Given the description of an element on the screen output the (x, y) to click on. 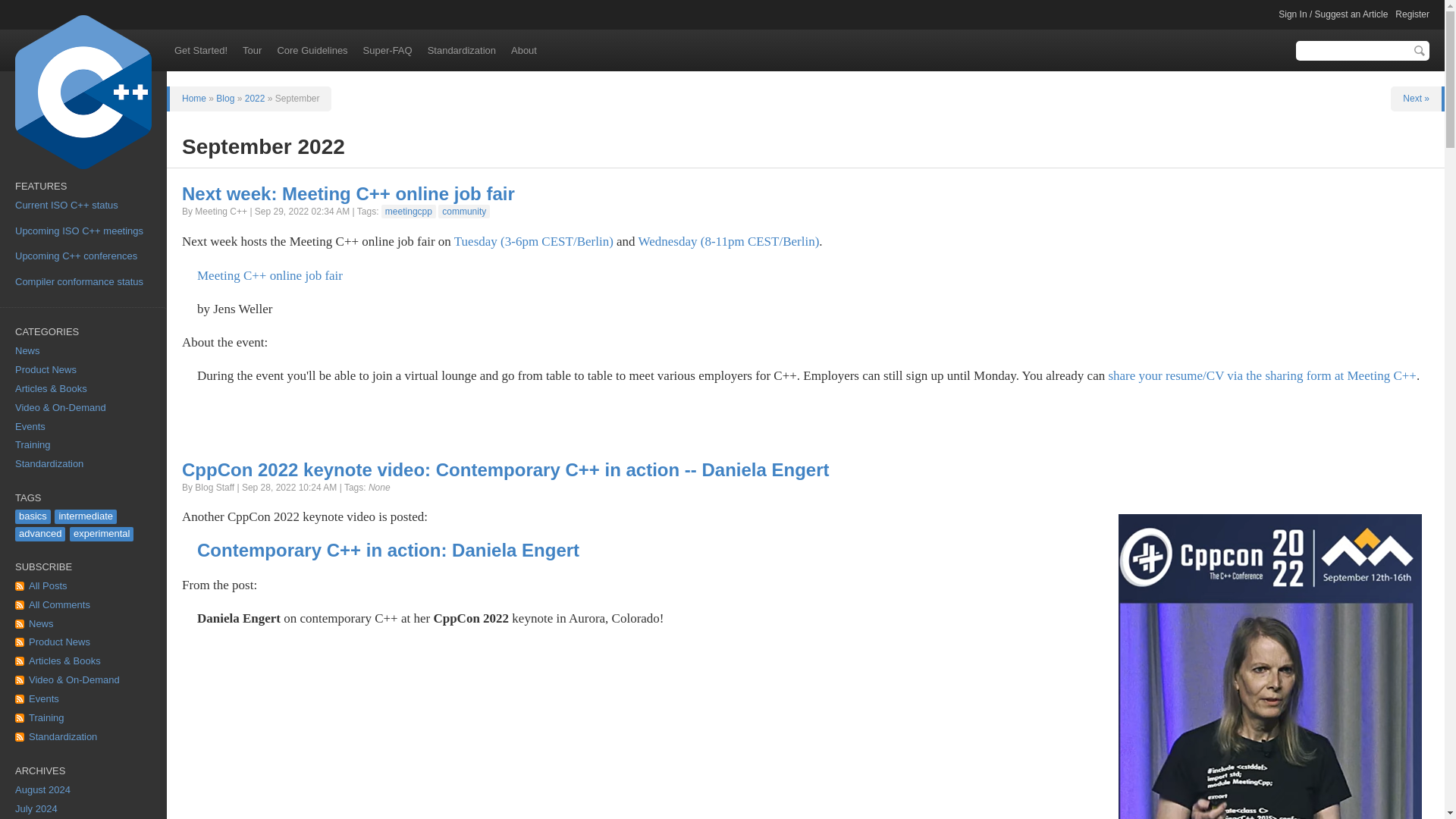
Get Started! (200, 50)
Product News (83, 642)
Standardization (83, 464)
intermediate (85, 516)
All Posts (83, 586)
Register (1411, 14)
All Comments (83, 605)
Product News (83, 370)
Compiler conformance status (78, 281)
Search (1419, 50)
